Given the description of an element on the screen output the (x, y) to click on. 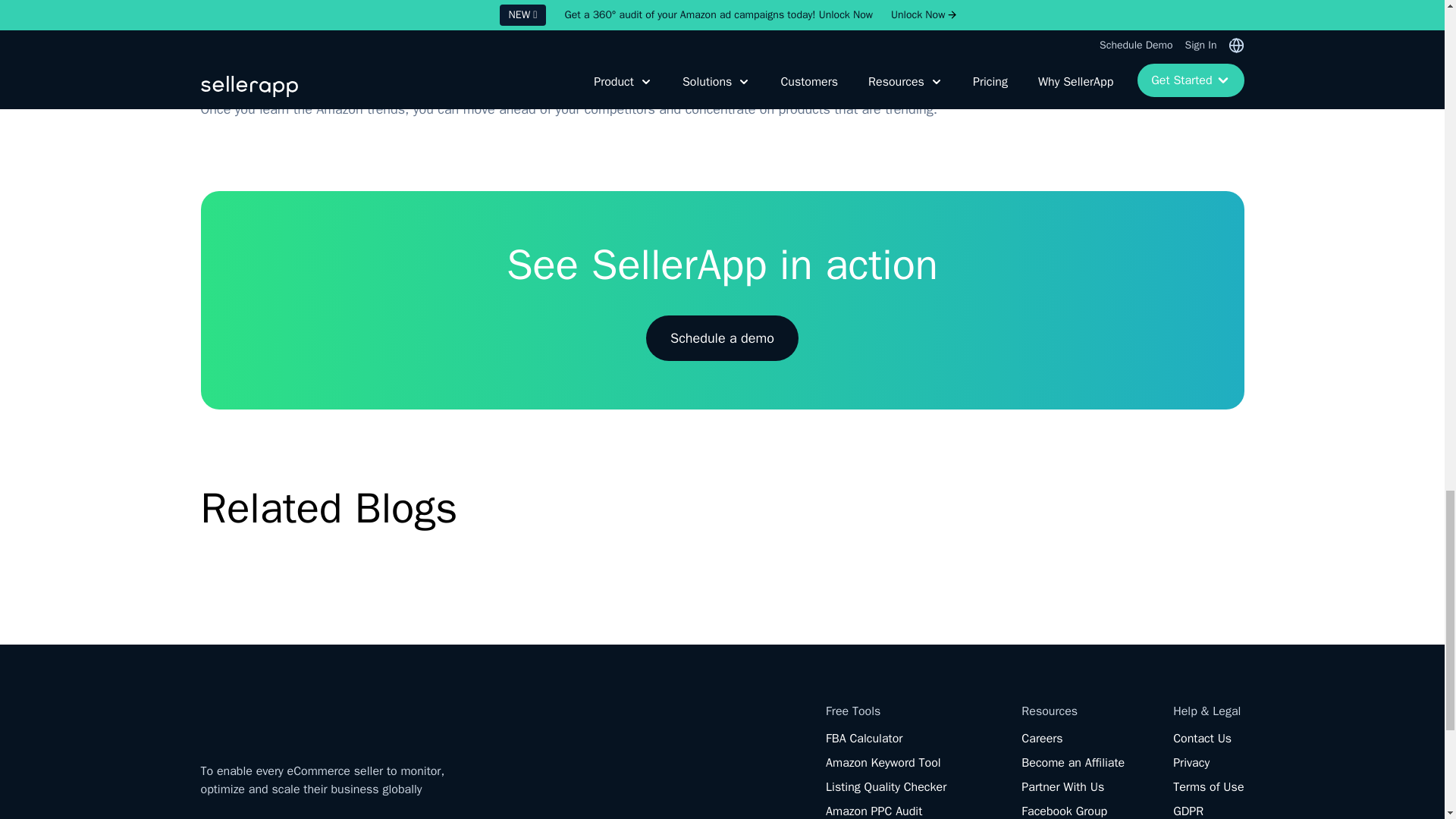
Amazon PPC Audit (873, 811)
Product research (357, 60)
FBA Calculator (863, 738)
Amazon Keyword Tool (882, 762)
Schedule a demo (721, 338)
Listing Quality Checker (885, 786)
